Given the description of an element on the screen output the (x, y) to click on. 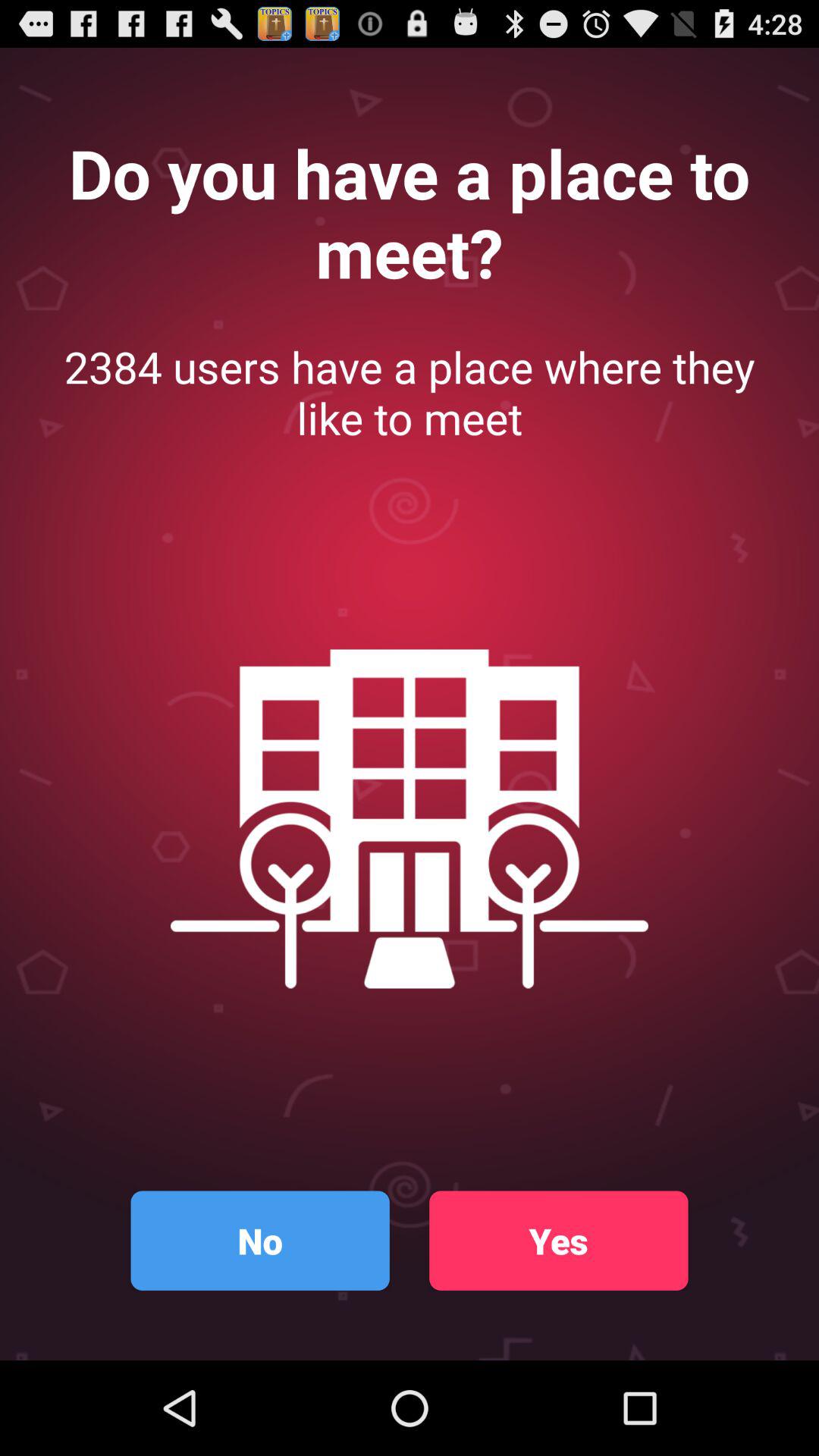
swipe to the yes icon (558, 1240)
